Given the description of an element on the screen output the (x, y) to click on. 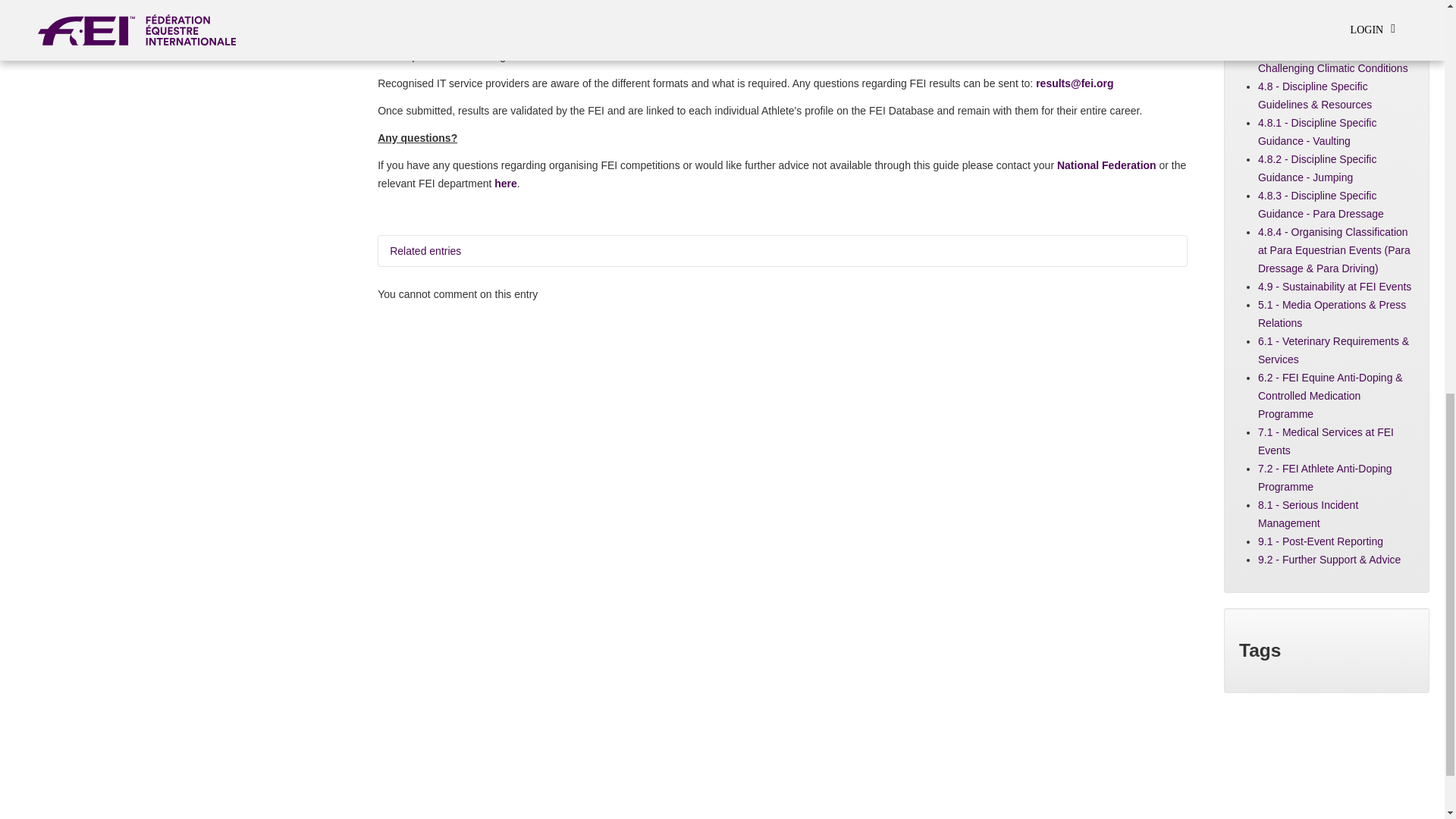
here (505, 183)
Related entries (782, 250)
here (777, 55)
FEI General Regulations (1094, 10)
National Federation (1106, 164)
